Given the description of an element on the screen output the (x, y) to click on. 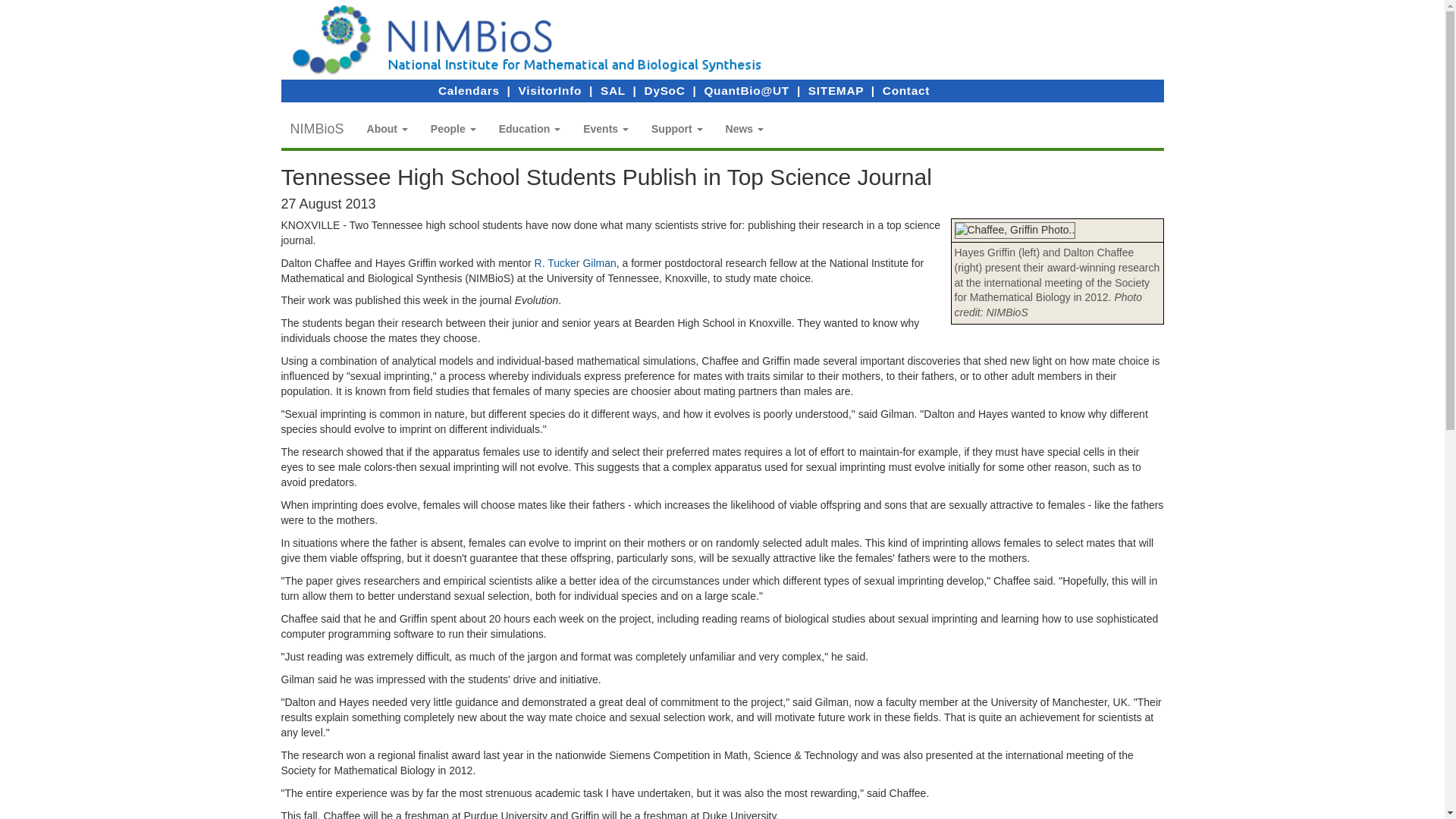
Calendars (468, 90)
SITEMAP (835, 90)
Education (529, 128)
VisitorInfo (550, 90)
Center for the Dynamics of Social Complexity (665, 90)
About (387, 128)
NIMBioS (317, 128)
DySoC (665, 90)
SAL (612, 90)
Contact (906, 90)
